Given the description of an element on the screen output the (x, y) to click on. 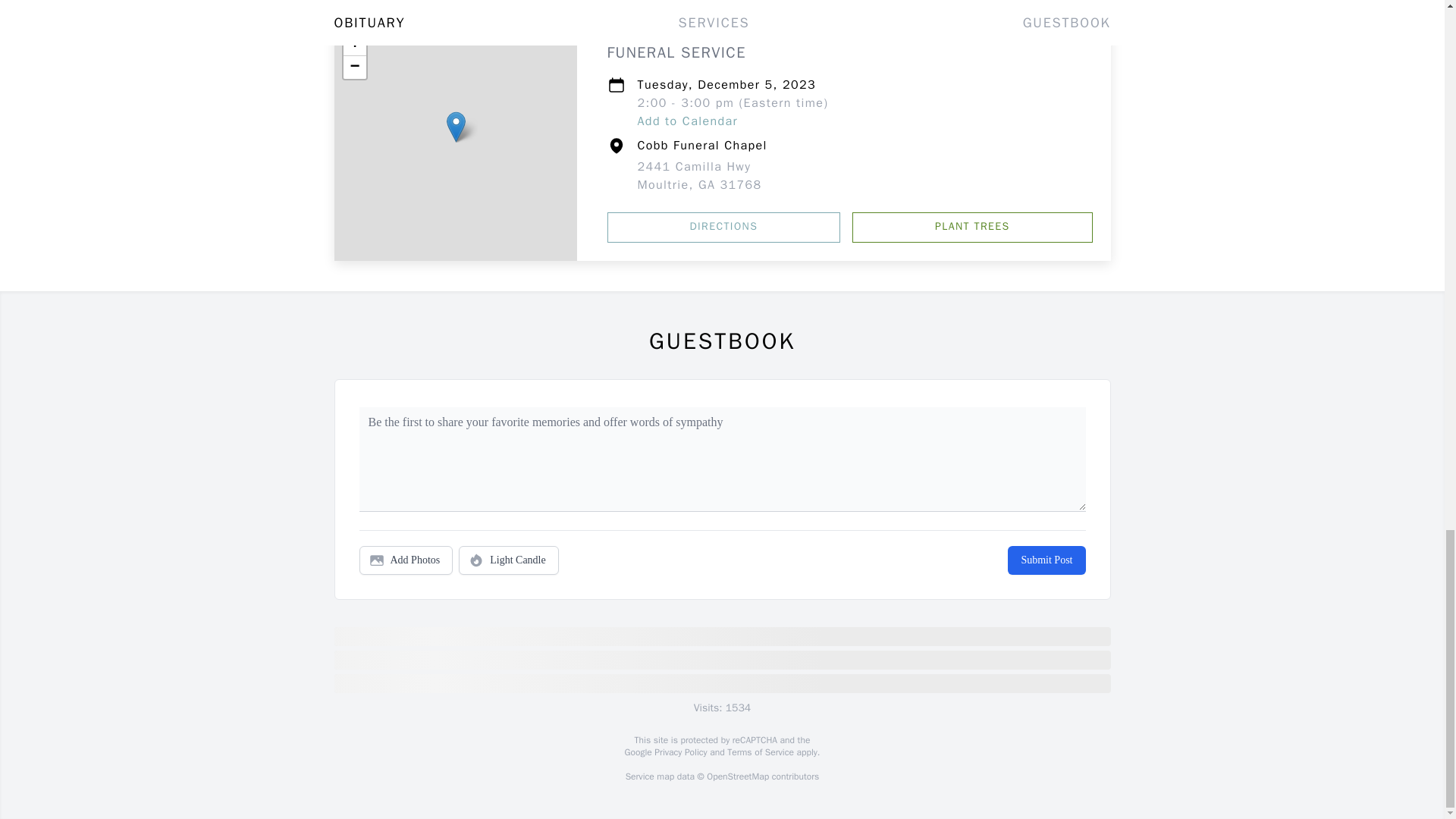
Zoom in (353, 44)
Add to Calendar (687, 120)
DIRECTIONS (723, 227)
Zoom out (353, 67)
